Given the description of an element on the screen output the (x, y) to click on. 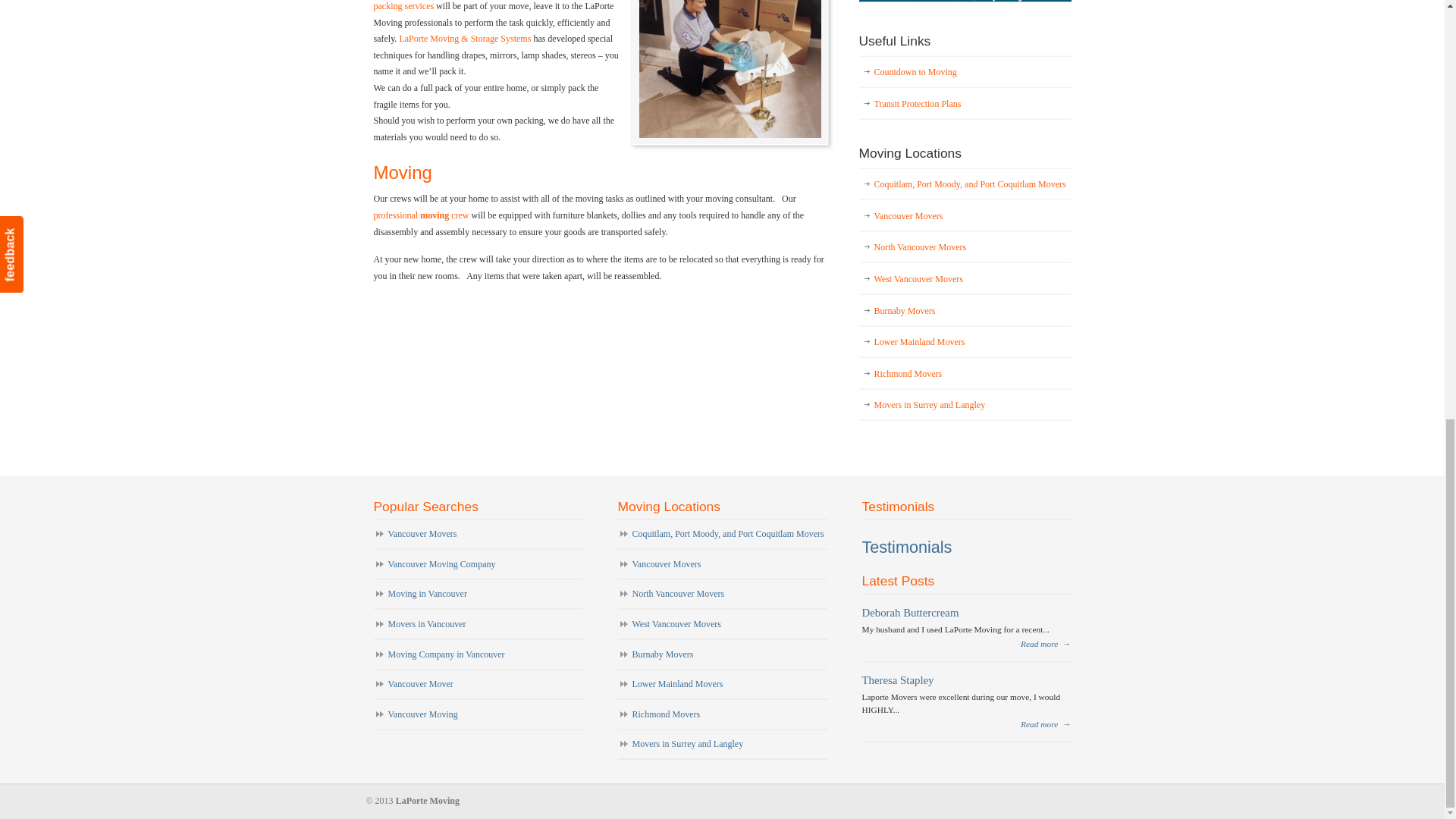
LaPorte Moving (464, 38)
Packing Services (402, 5)
LaPorte Moving (420, 214)
LaPorte Moving (401, 172)
